Given the description of an element on the screen output the (x, y) to click on. 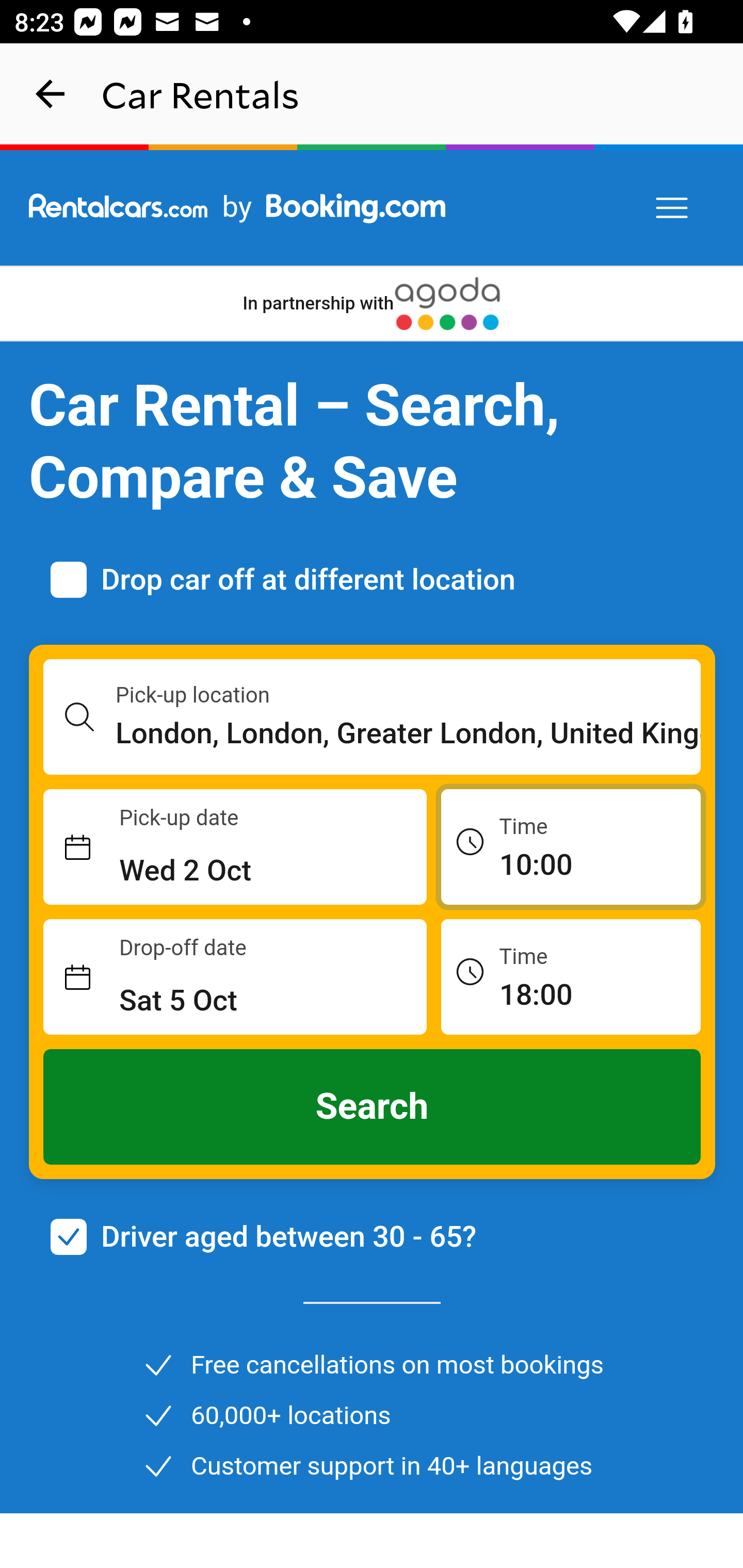
navigation_button (50, 93)
Menu (672, 208)
London, London, Greater London, United Kingdom (408, 733)
Pick-up date Wed 2 Oct (235, 847)
10:00 (571, 845)
Drop-off date Sat 5 Oct (235, 977)
18:00 (571, 975)
Search (372, 1106)
